Given the description of an element on the screen output the (x, y) to click on. 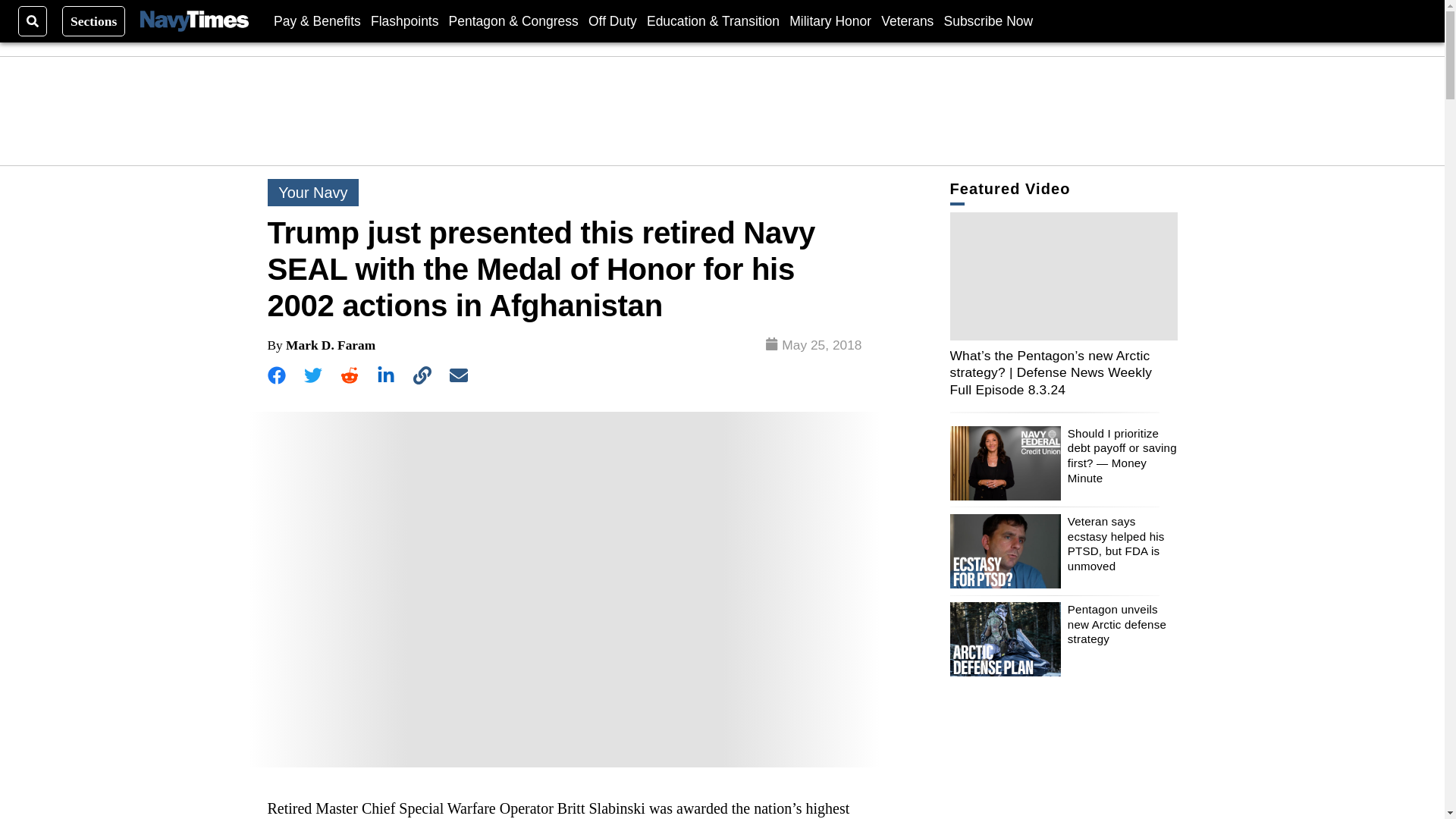
Flashpoints (405, 20)
Navy Times Logo (193, 20)
Sections (93, 20)
Military Honor (829, 20)
Veterans (906, 20)
Off Duty (612, 20)
